Given the description of an element on the screen output the (x, y) to click on. 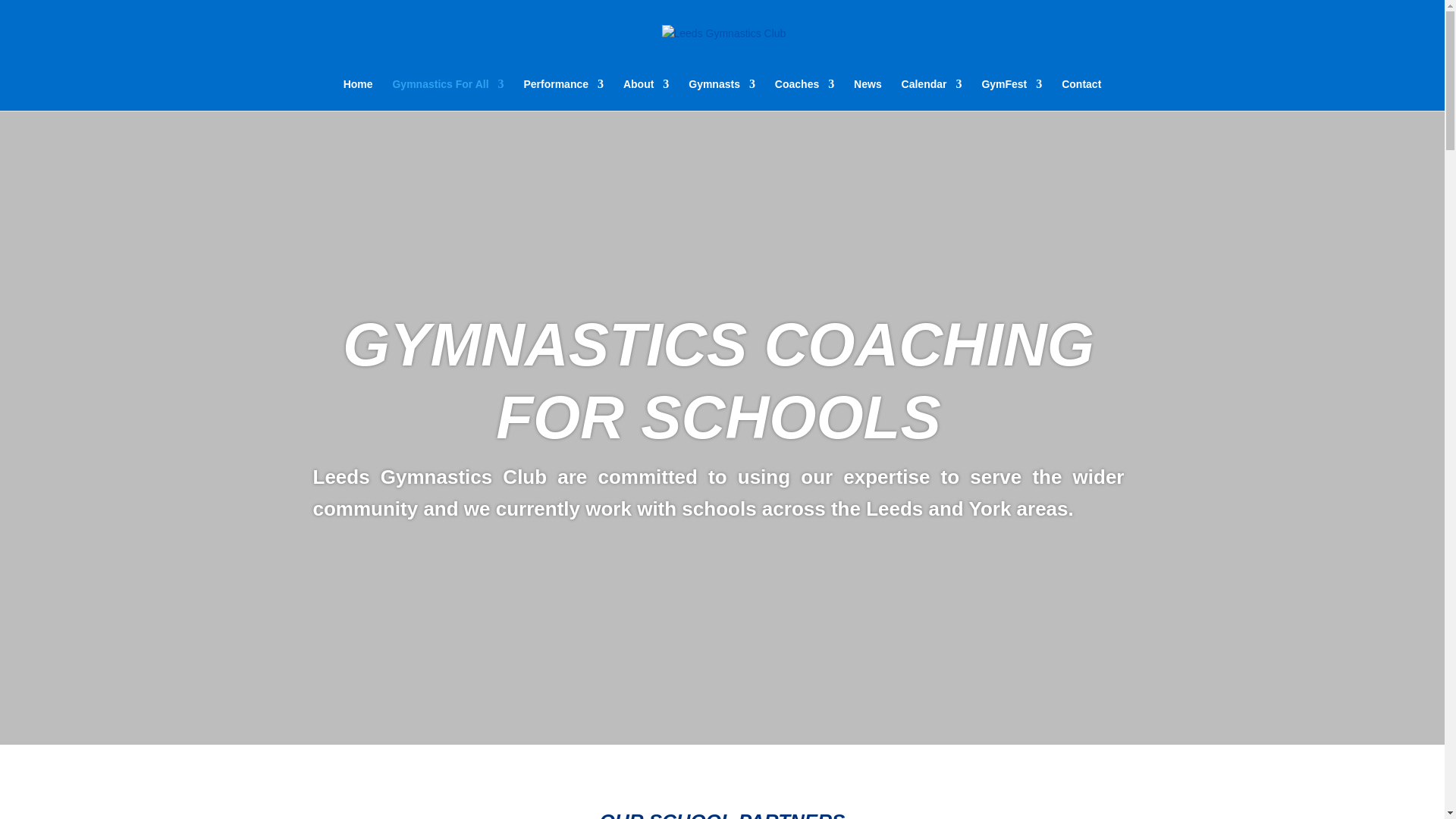
Gymnastics For All (447, 94)
About (645, 94)
Coaches (804, 94)
Gymnasts (721, 94)
Home (357, 94)
Performance (563, 94)
Calendar (931, 94)
